Given the description of an element on the screen output the (x, y) to click on. 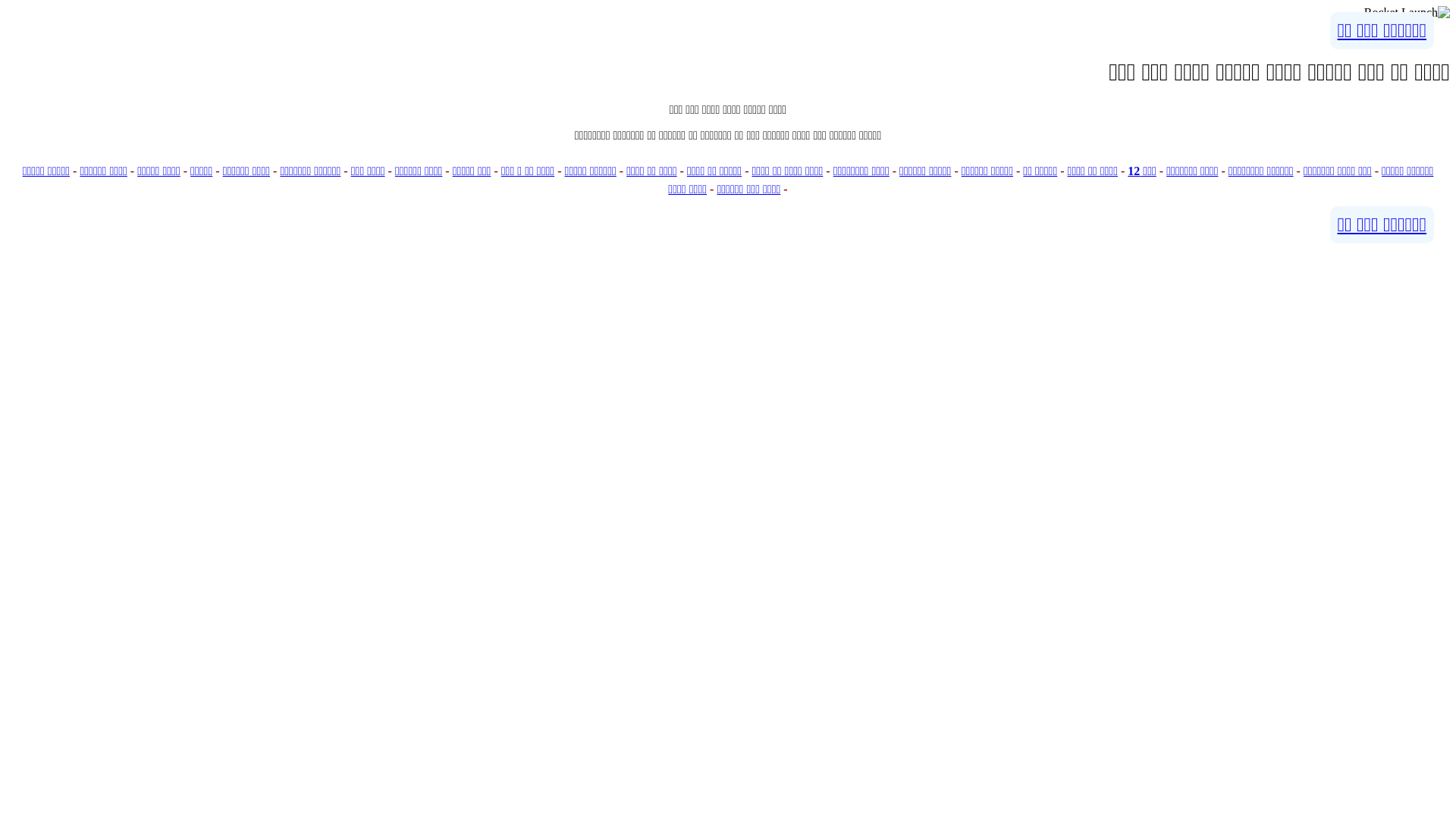
Rocket Launch Element type: hover (1406, 12)
